Given the description of an element on the screen output the (x, y) to click on. 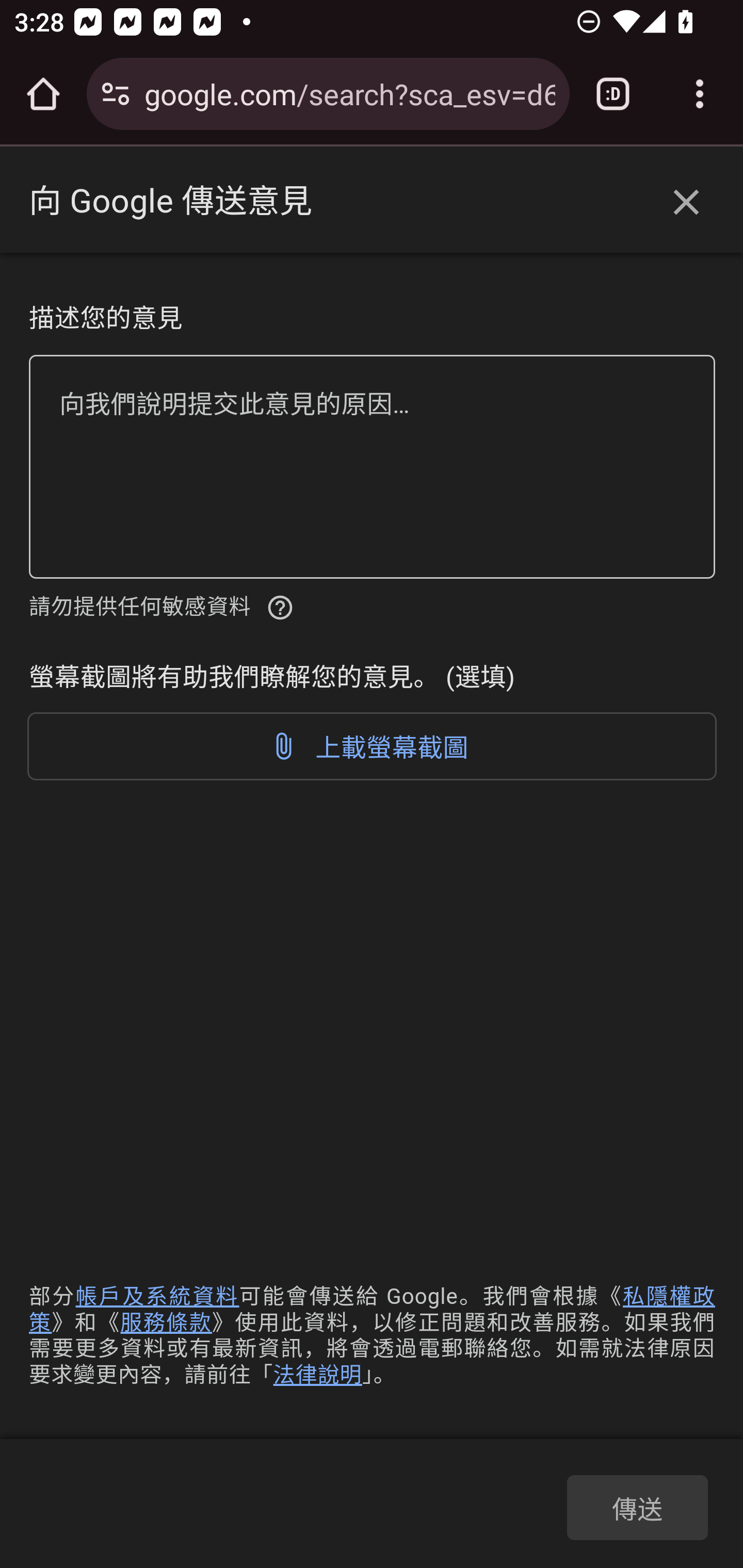
Open the home page (43, 93)
Connection is secure (115, 93)
Switch or close tabs (612, 93)
Customize and control Google Chrome (699, 93)
主選單 (54, 202)
關閉 (686, 202)
上載螢幕截圖 (372, 746)
喺新分頁度打開。私隱權政策 私隱權政策 (372, 1308)
帳戶及系統資料 (156, 1296)
喺新分頁度打開。服務條款 服務條款 (165, 1322)
喺新分頁度打開。法律說明 法律說明 (317, 1374)
傳送掣，停用咗。除了標示為選填的問題之外，所有問題均需回答 (636, 1507)
